Given the description of an element on the screen output the (x, y) to click on. 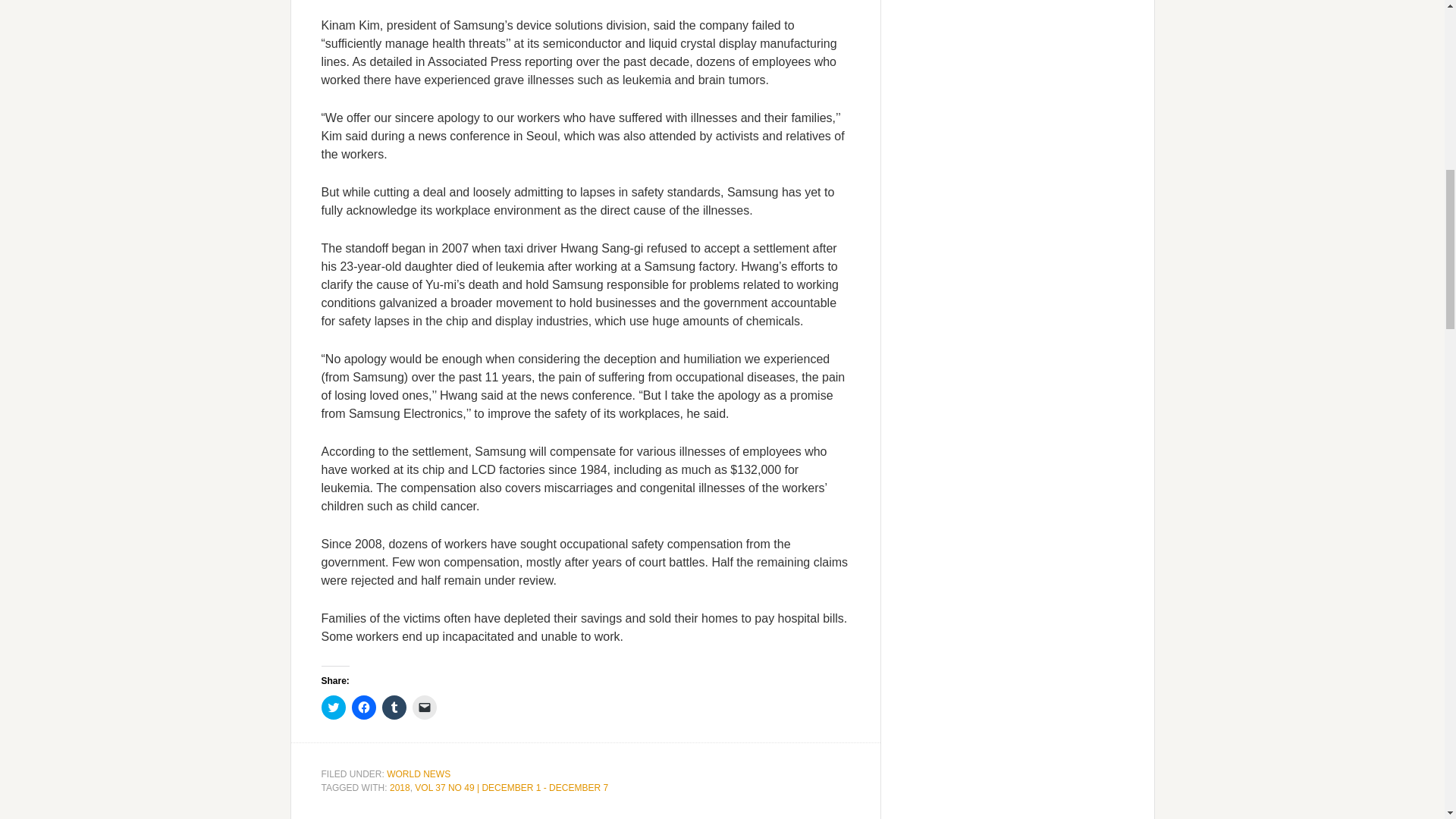
Click to share on Twitter (333, 707)
Click to share on Facebook (363, 707)
Click to email a link to a friend (424, 707)
Click to share on Tumblr (393, 707)
